Given the description of an element on the screen output the (x, y) to click on. 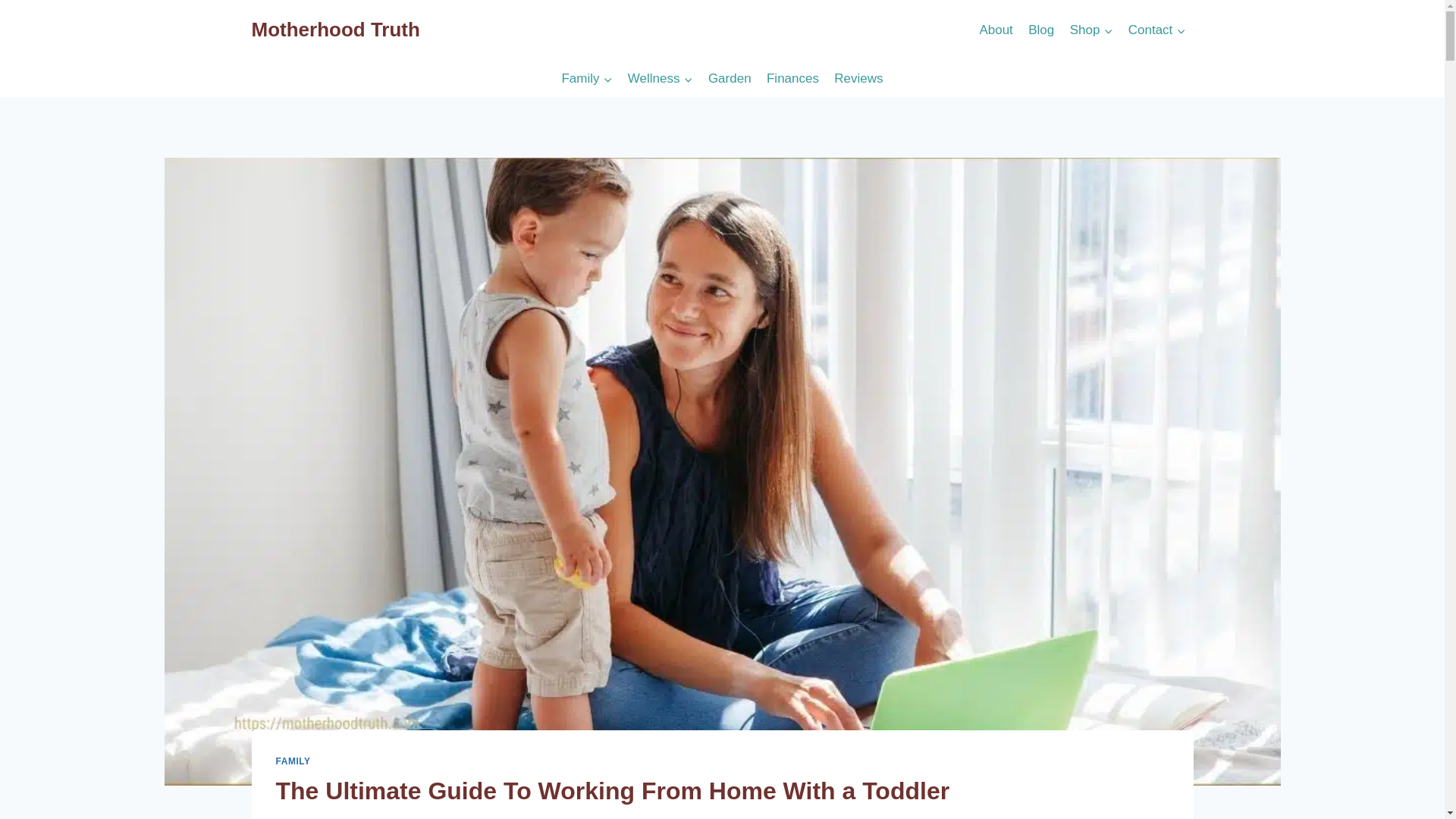
Finances (792, 78)
Shop (1090, 30)
Family (586, 78)
FAMILY (293, 760)
Contact (1157, 30)
Garden (729, 78)
Blog (1040, 30)
Motherhood Truth (335, 29)
About (995, 30)
